Given the description of an element on the screen output the (x, y) to click on. 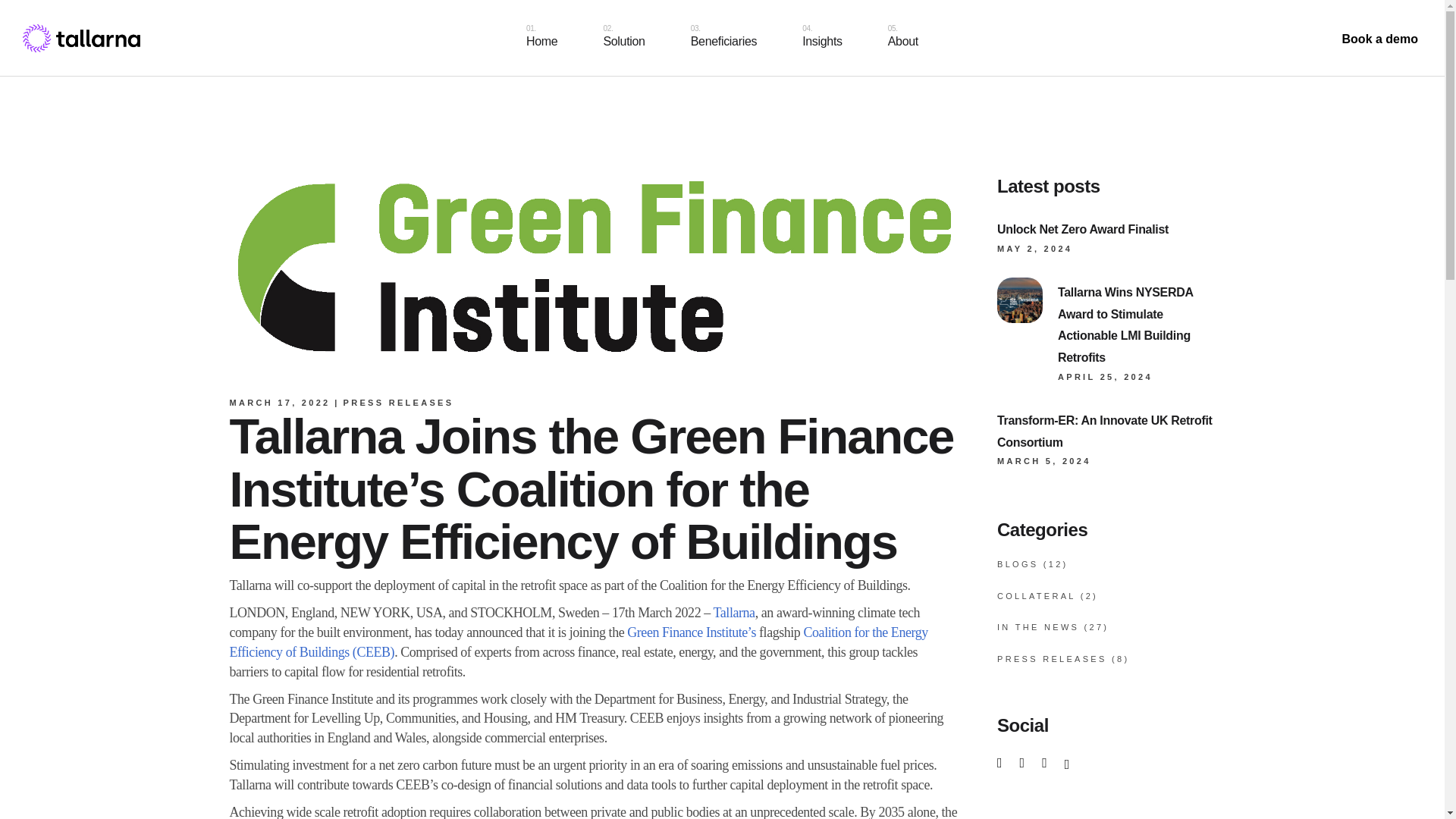
Insights (821, 38)
Home (541, 38)
Solution (622, 38)
About (902, 38)
Beneficiaries (723, 38)
